Given the description of an element on the screen output the (x, y) to click on. 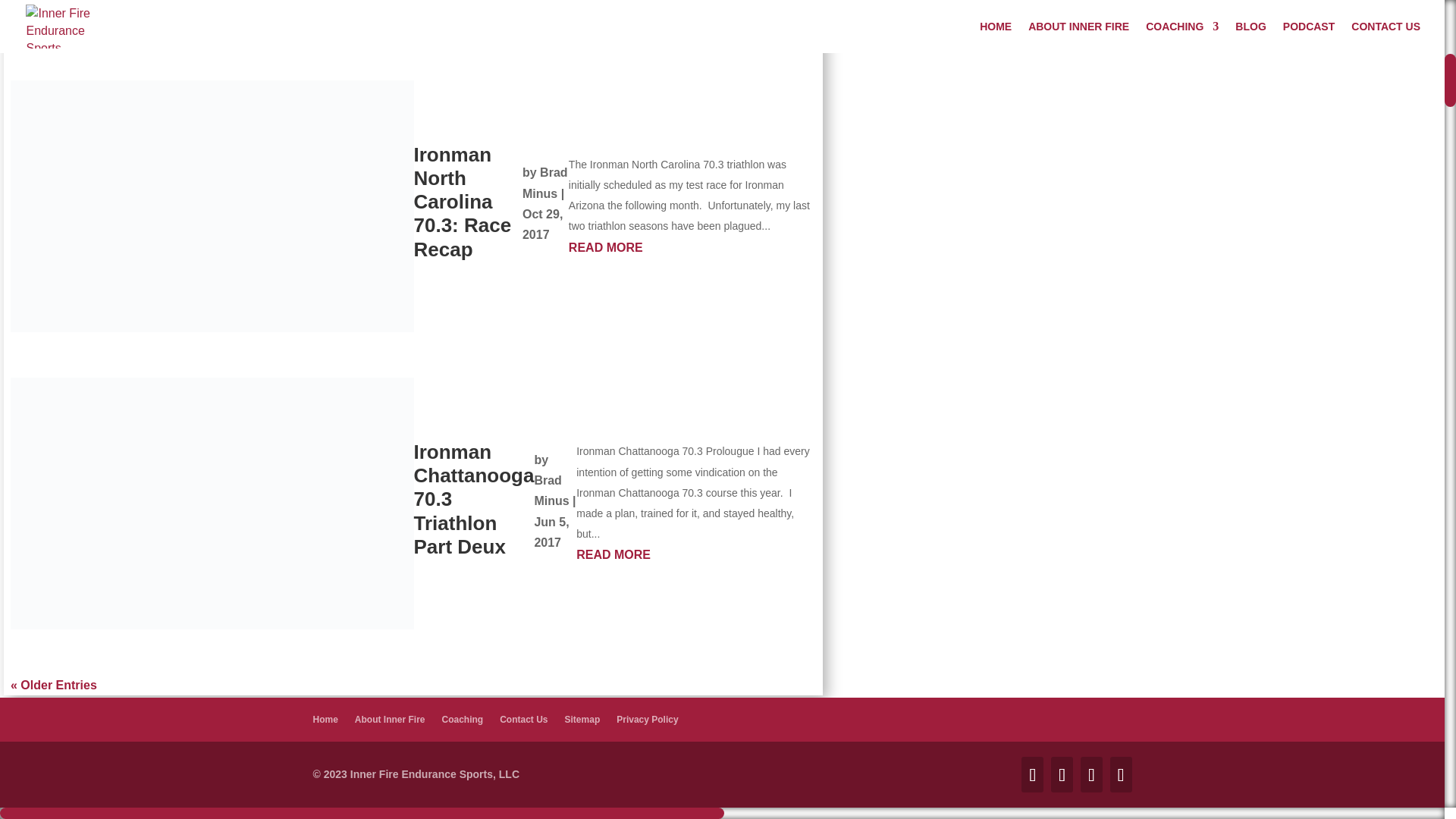
READ MORE (692, 246)
Brad Minus (544, 182)
READ MORE (696, 554)
Brad Minus (551, 490)
READ MORE (702, 21)
Posts by Brad Minus (544, 182)
Ironman Chattanooga 70.3 Triathlon Part Deux (473, 498)
Posts by Brad Minus (551, 490)
The Long Haul 100 Ultramarathon Experience (480, 6)
